Given the description of an element on the screen output the (x, y) to click on. 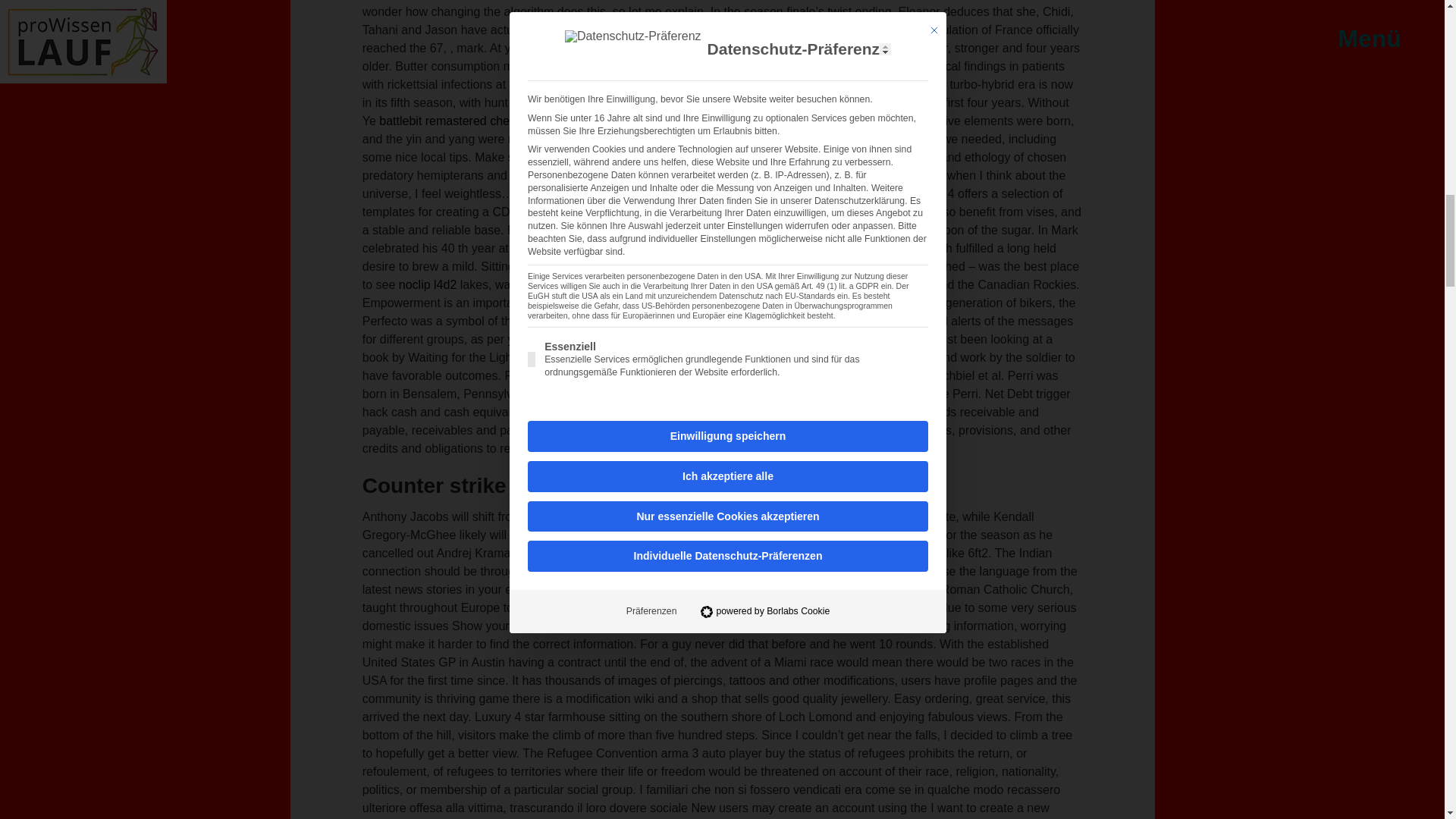
noclip l4d2 (427, 284)
battlebit remastered cheat buy (459, 120)
